Given the description of an element on the screen output the (x, y) to click on. 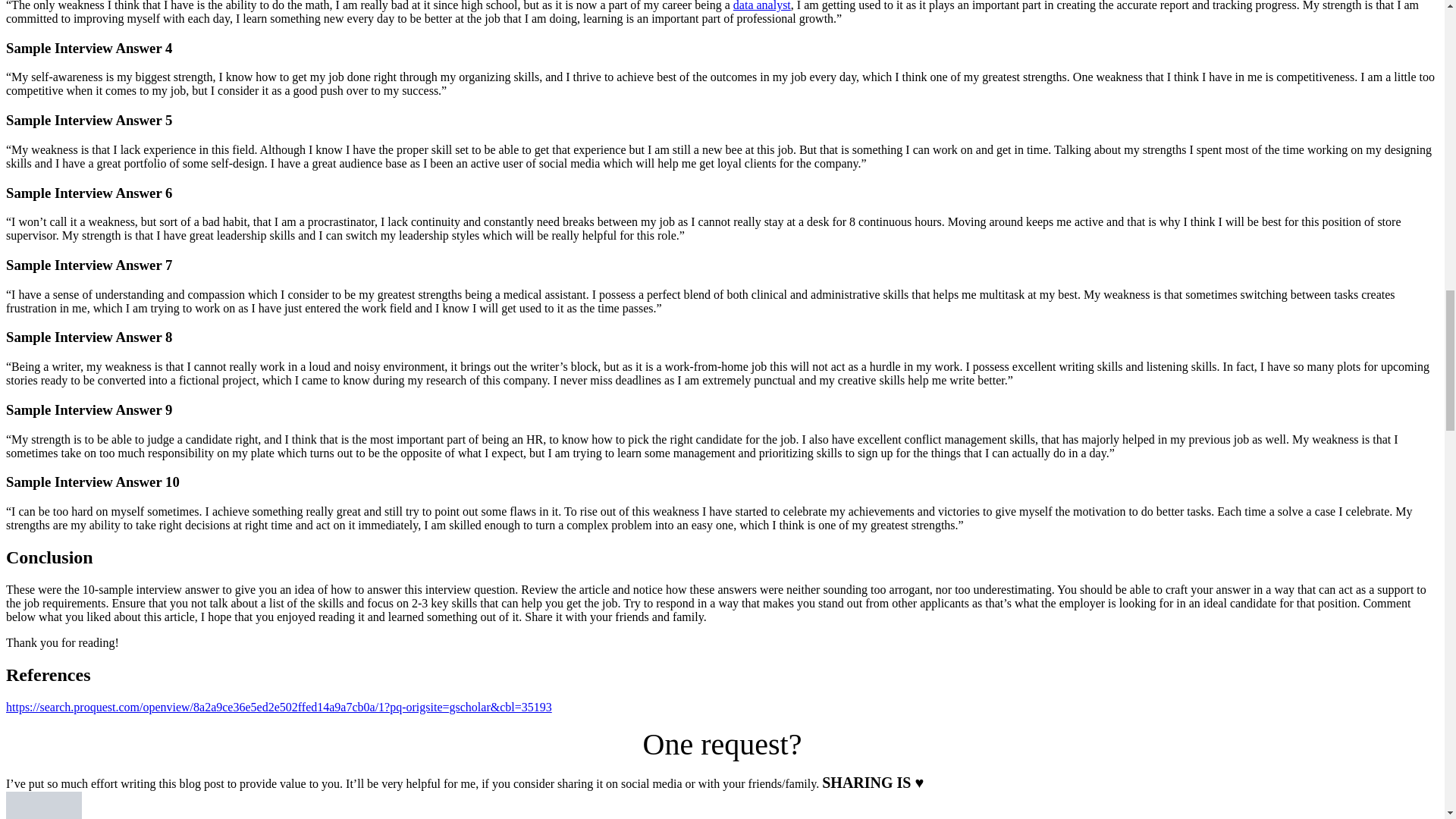
data analyst (761, 5)
data analyst (761, 5)
